Given the description of an element on the screen output the (x, y) to click on. 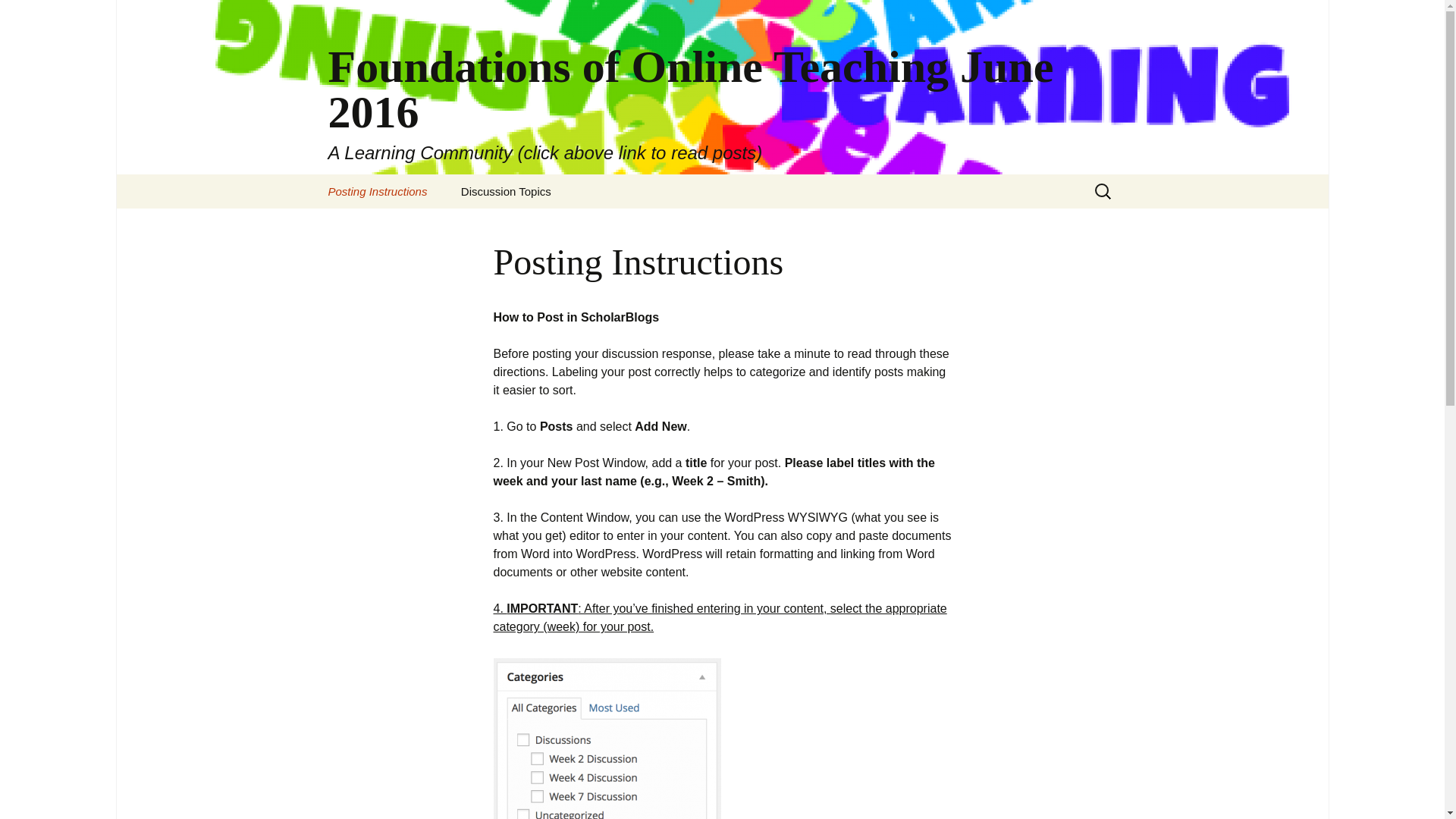
Discussion Topics (505, 191)
Search (18, 15)
Search (34, 15)
Posting Instructions (377, 191)
